Given the description of an element on the screen output the (x, y) to click on. 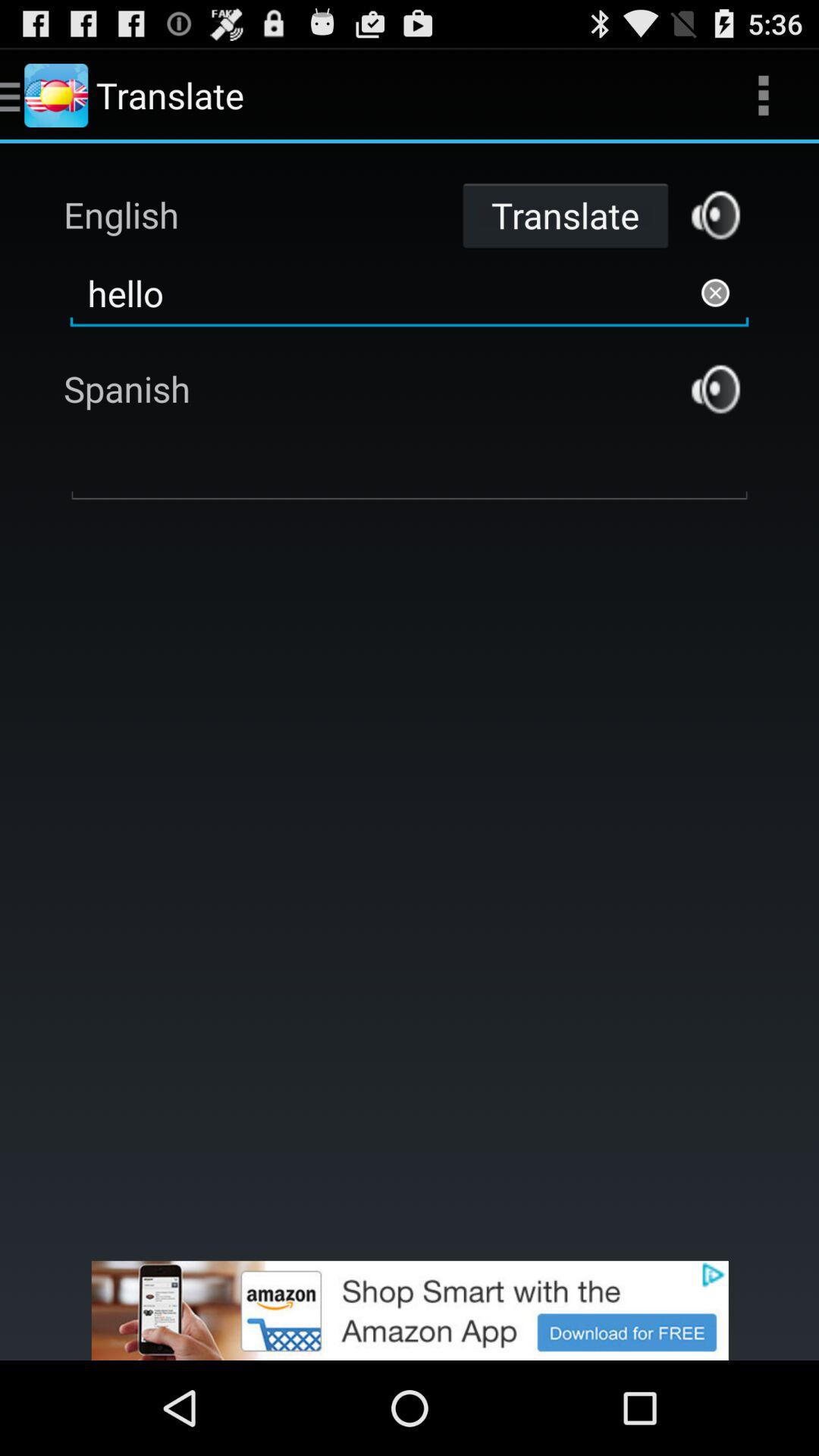
go to advertisement (715, 214)
